Given the description of an element on the screen output the (x, y) to click on. 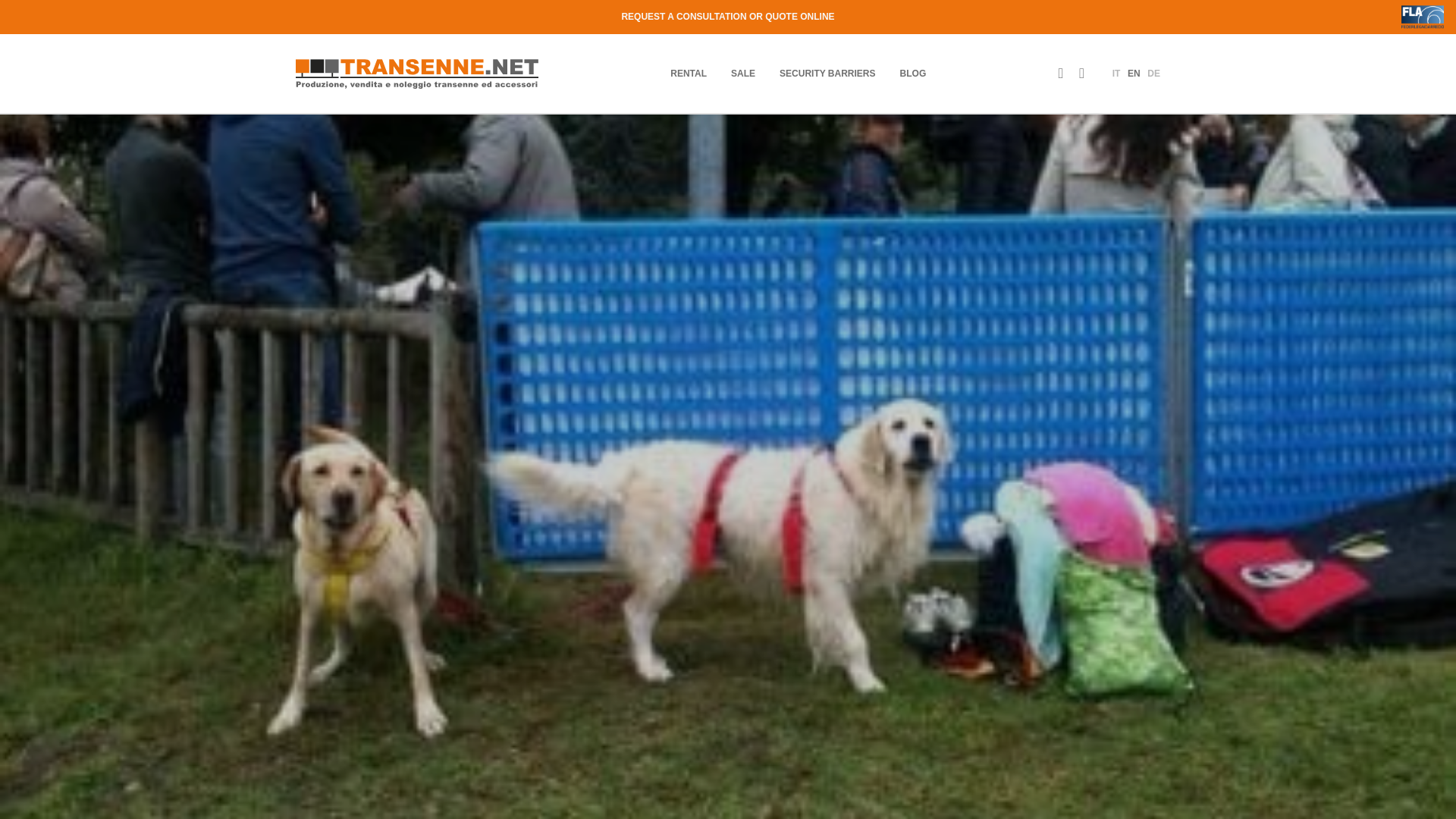
SALE (742, 72)
REQUEST A CONSULTATION OR QUOTE ONLINE (727, 16)
DE (1153, 72)
Home (416, 73)
EN (1133, 72)
BLOG (912, 72)
IT (1116, 72)
SECURITY BARRIERS (826, 72)
RENTAL (687, 72)
